Given the description of an element on the screen output the (x, y) to click on. 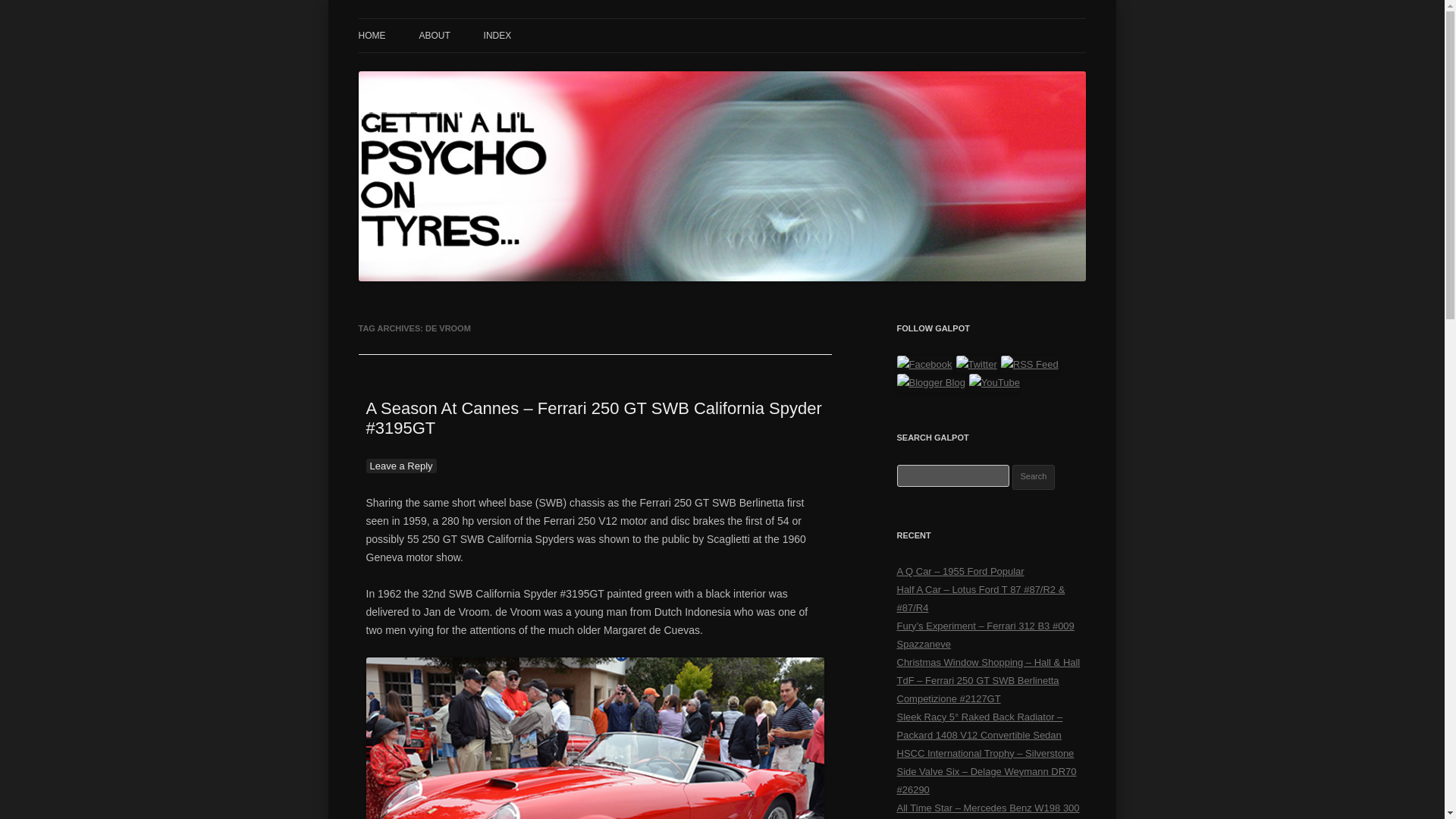
Follow arttidesco on Twitter (976, 364)
Search (1033, 477)
Gettin' A Li'l Psycho On Tyres (497, 36)
ABOUT (434, 35)
psychoontyres - YouTube (994, 382)
Subscribe to RSS Feed (1029, 364)
Leave a Reply (400, 465)
Gettin' A Li'l Psycho On Tyres (497, 36)
Connect on Facebook (924, 364)
Search (1033, 477)
